Given the description of an element on the screen output the (x, y) to click on. 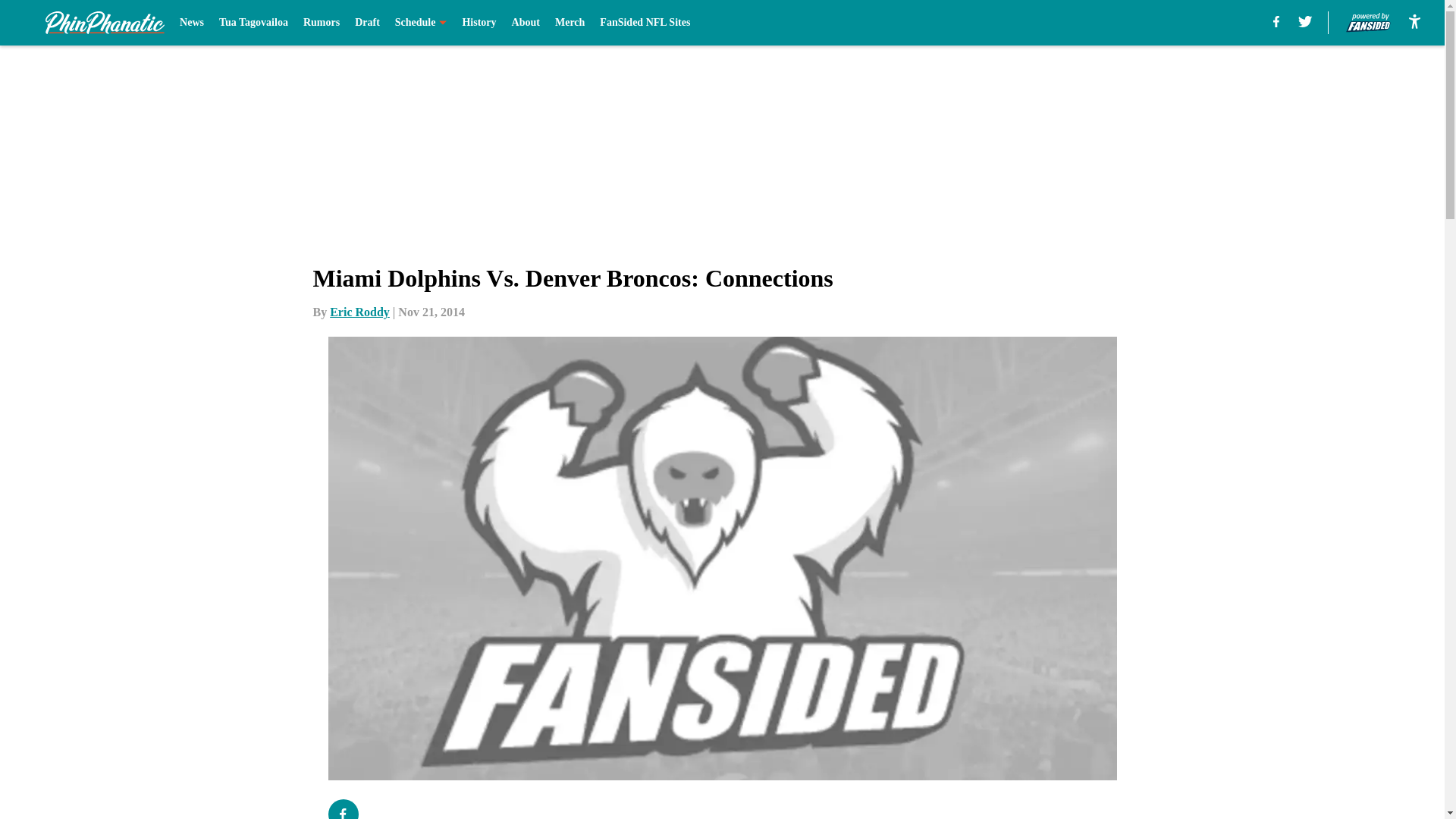
Rumors (320, 22)
Draft (367, 22)
About (526, 22)
FanSided NFL Sites (644, 22)
Eric Roddy (360, 311)
Merch (569, 22)
History (478, 22)
News (191, 22)
Tua Tagovailoa (253, 22)
